Given the description of an element on the screen output the (x, y) to click on. 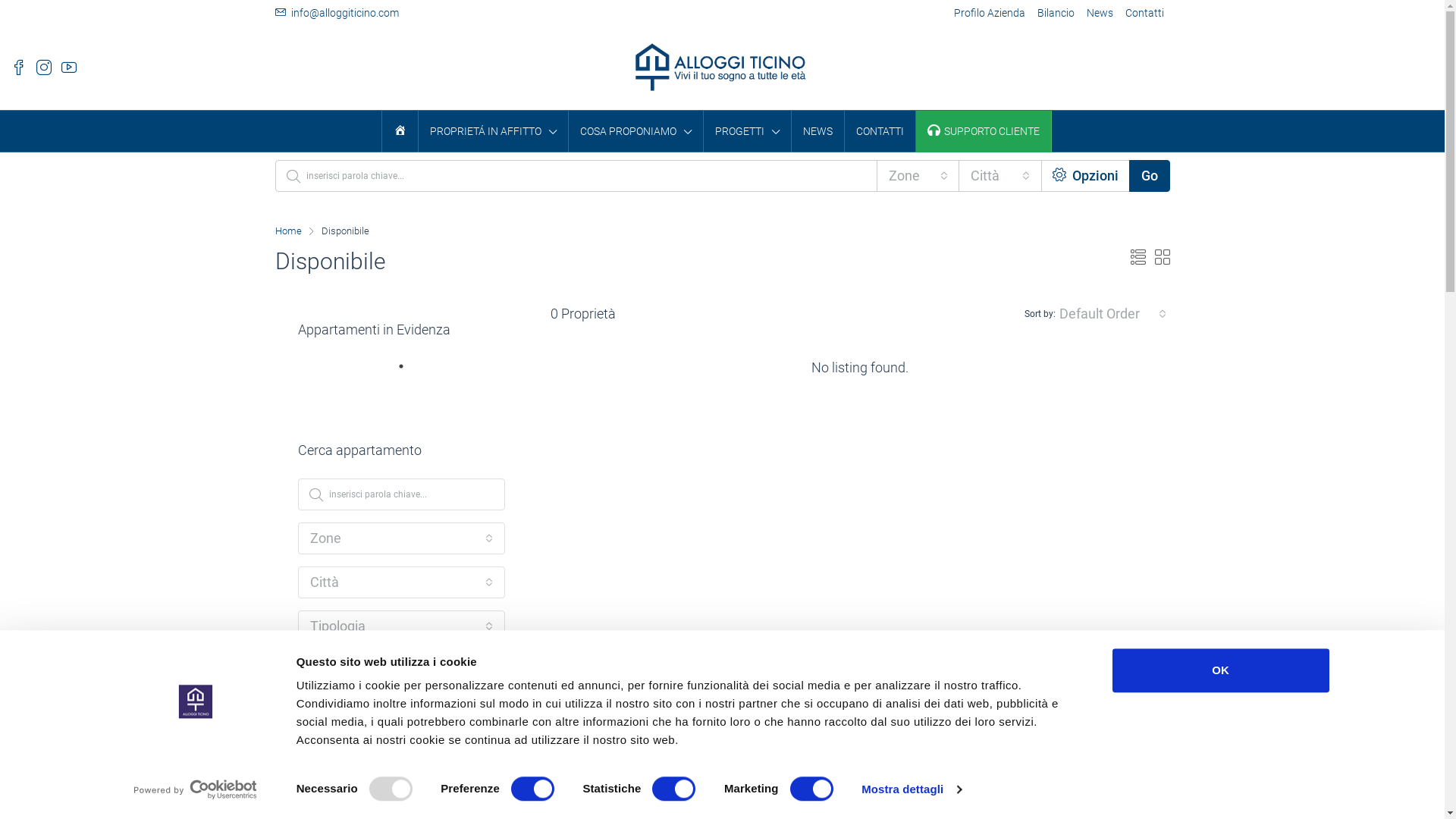
Bilancio Element type: text (1055, 13)
NEWS Element type: text (817, 130)
HOME Element type: text (399, 130)
COSA PROPONIAMO Element type: text (635, 131)
1 Element type: text (408, 371)
Zone Element type: text (400, 538)
CONTATTI Element type: text (879, 130)
Mostra dettagli Element type: text (911, 789)
Bagni Element type: text (400, 714)
Zone Element type: text (918, 175)
Tipologia Element type: text (400, 626)
News Element type: text (1098, 13)
SUPPORTO CLIENTE Element type: text (983, 130)
Camere Element type: text (400, 670)
Home Element type: text (287, 231)
Contatti Element type: text (1144, 13)
OK Element type: text (1219, 670)
Profilo Azienda Element type: text (989, 13)
Opzioni Element type: text (1085, 175)
Go Element type: text (1148, 175)
Default Order Element type: text (1112, 313)
PROGETTI Element type: text (746, 131)
info@alloggiticino.com Element type: text (336, 12)
